Given the description of an element on the screen output the (x, y) to click on. 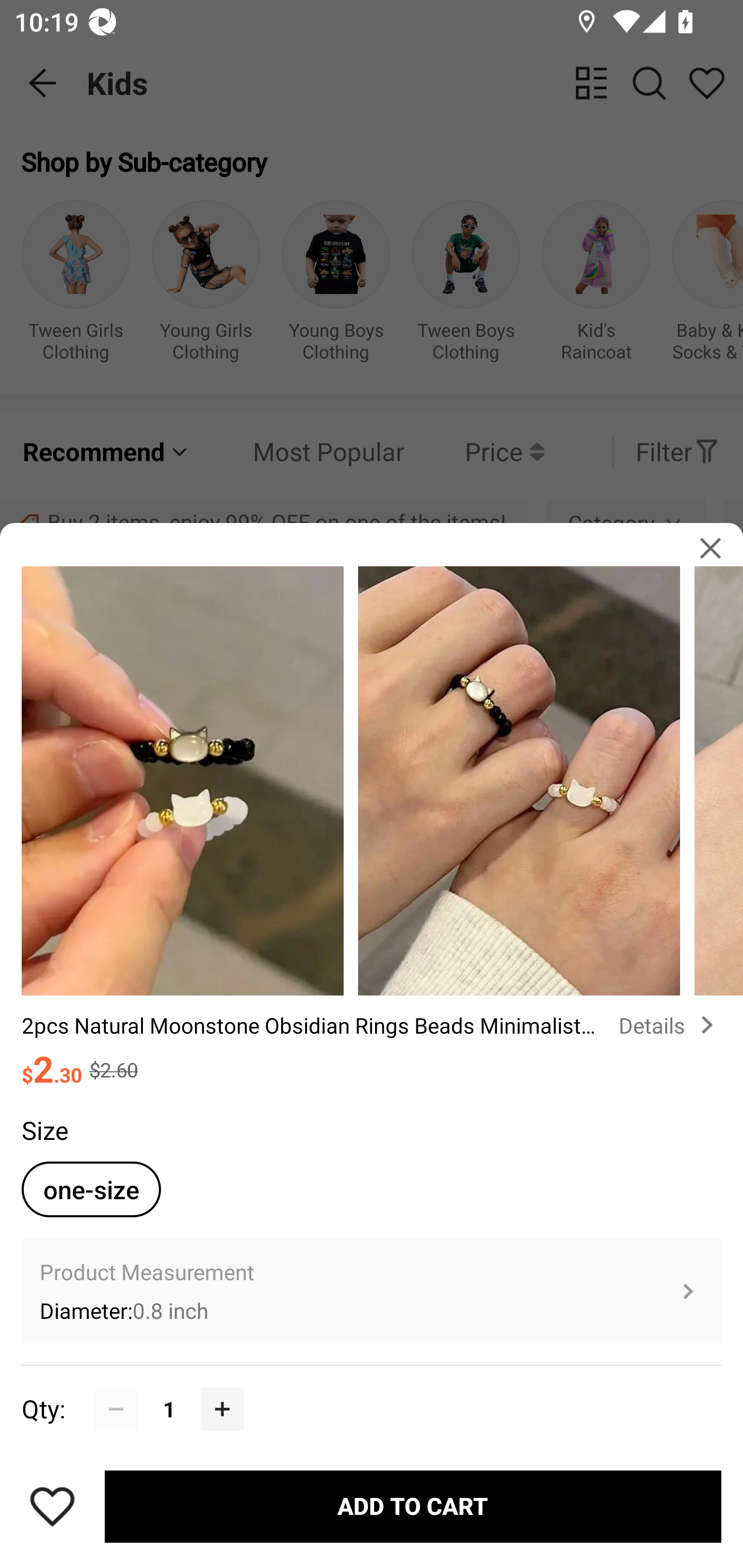
Details (669, 1024)
Size (44, 1130)
one-size one-sizeselected option (91, 1188)
Product Measurement Diameter:0.8 inch (371, 1290)
ADD TO CART (412, 1506)
Save (52, 1505)
